Given the description of an element on the screen output the (x, y) to click on. 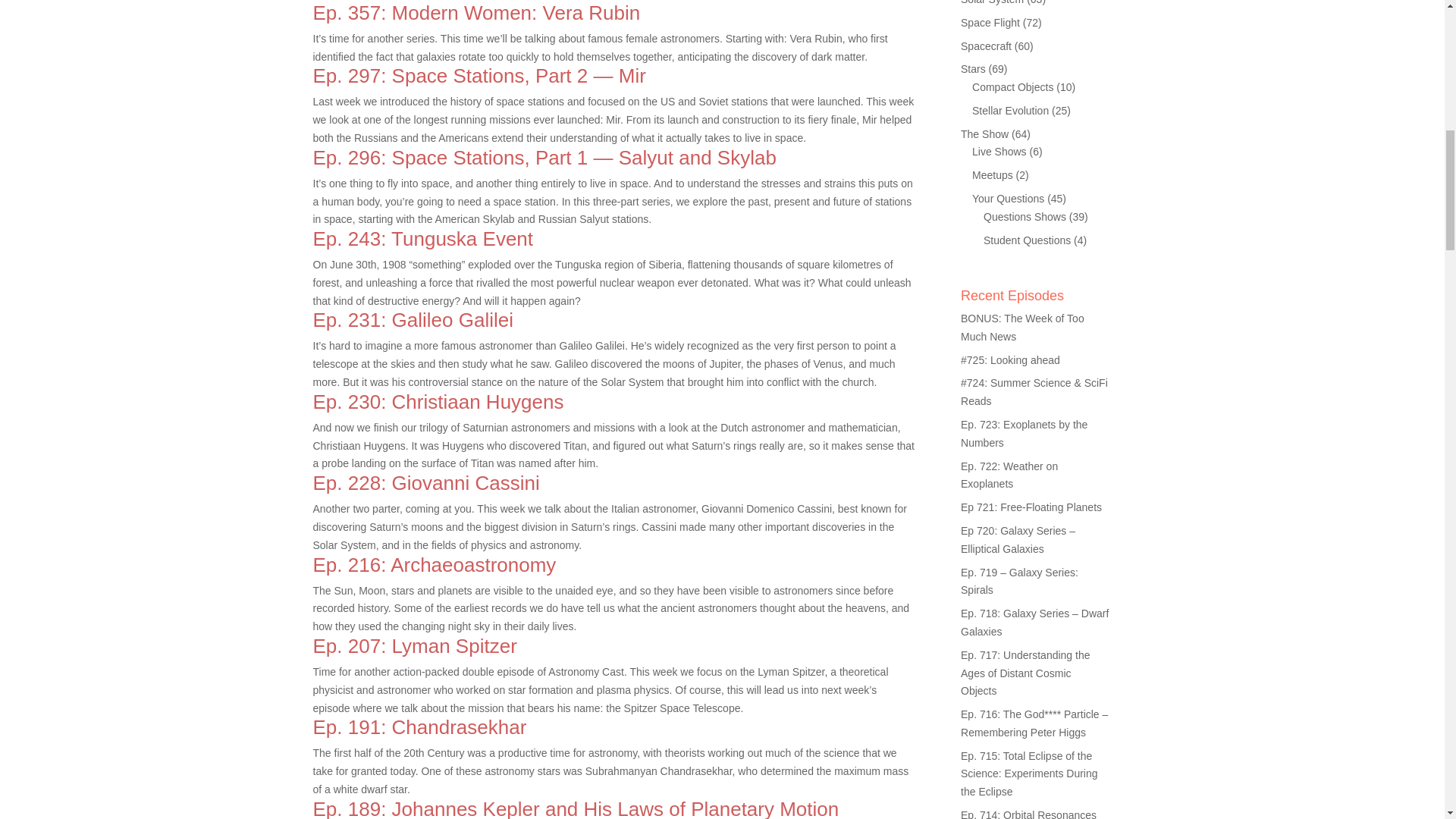
Ep. 191: Chandrasekhar (419, 726)
Ep. 357: Modern Women: Vera Rubin (476, 12)
Ep. 231: Galileo Galilei (412, 319)
Ep. 243: Tunguska Event (422, 238)
Ep. 207: Lyman Spitzer (414, 645)
Ep. 216: Archaeoastronomy (434, 564)
Ep. 230: Christiaan Huygens (438, 401)
Ep. 189: Johannes Kepler and His Laws of Planetary Motion (575, 808)
Ep. 228: Giovanni Cassini (425, 482)
